Given the description of an element on the screen output the (x, y) to click on. 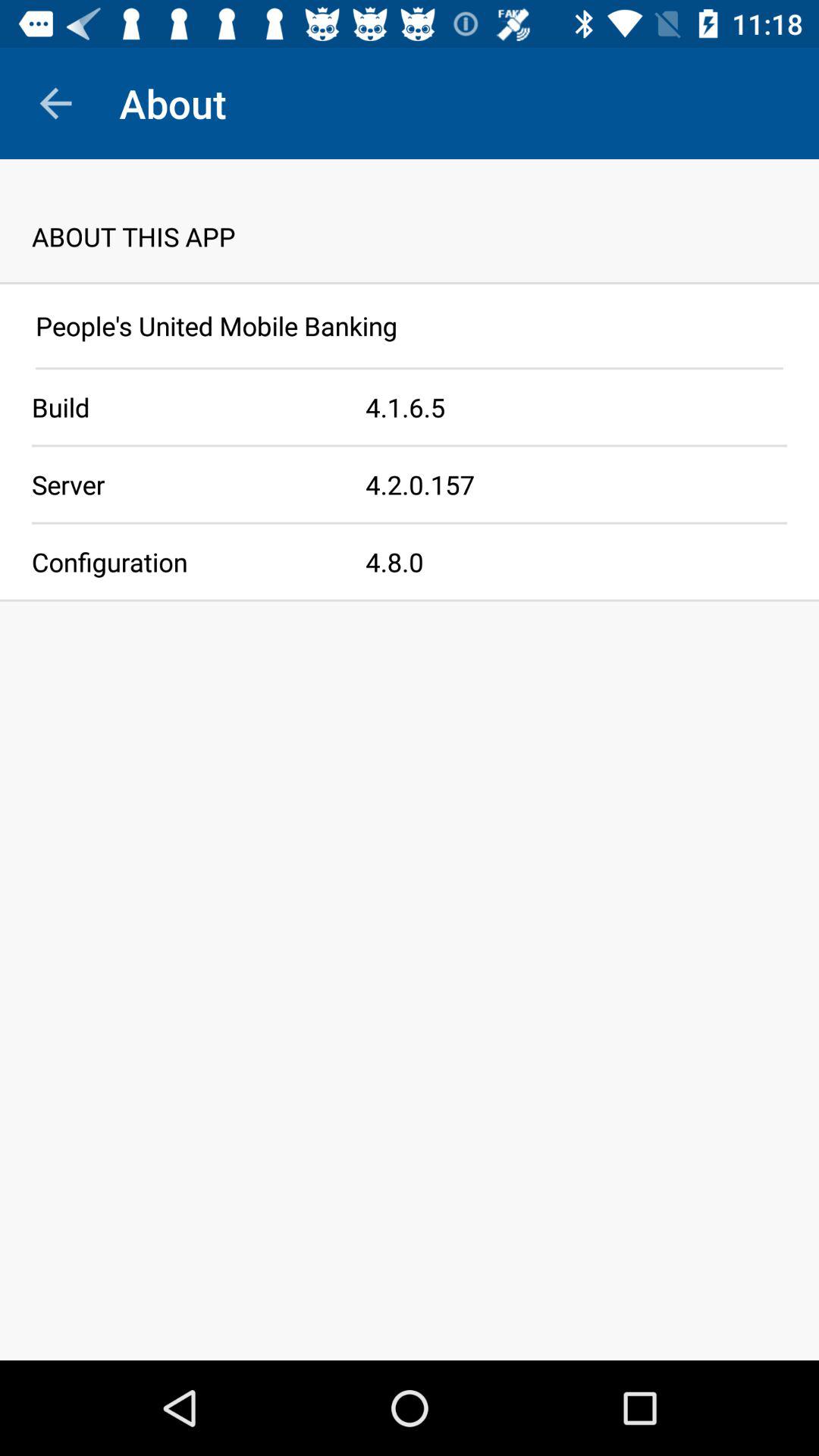
open the item next to the 4 1 6 (182, 406)
